Given the description of an element on the screen output the (x, y) to click on. 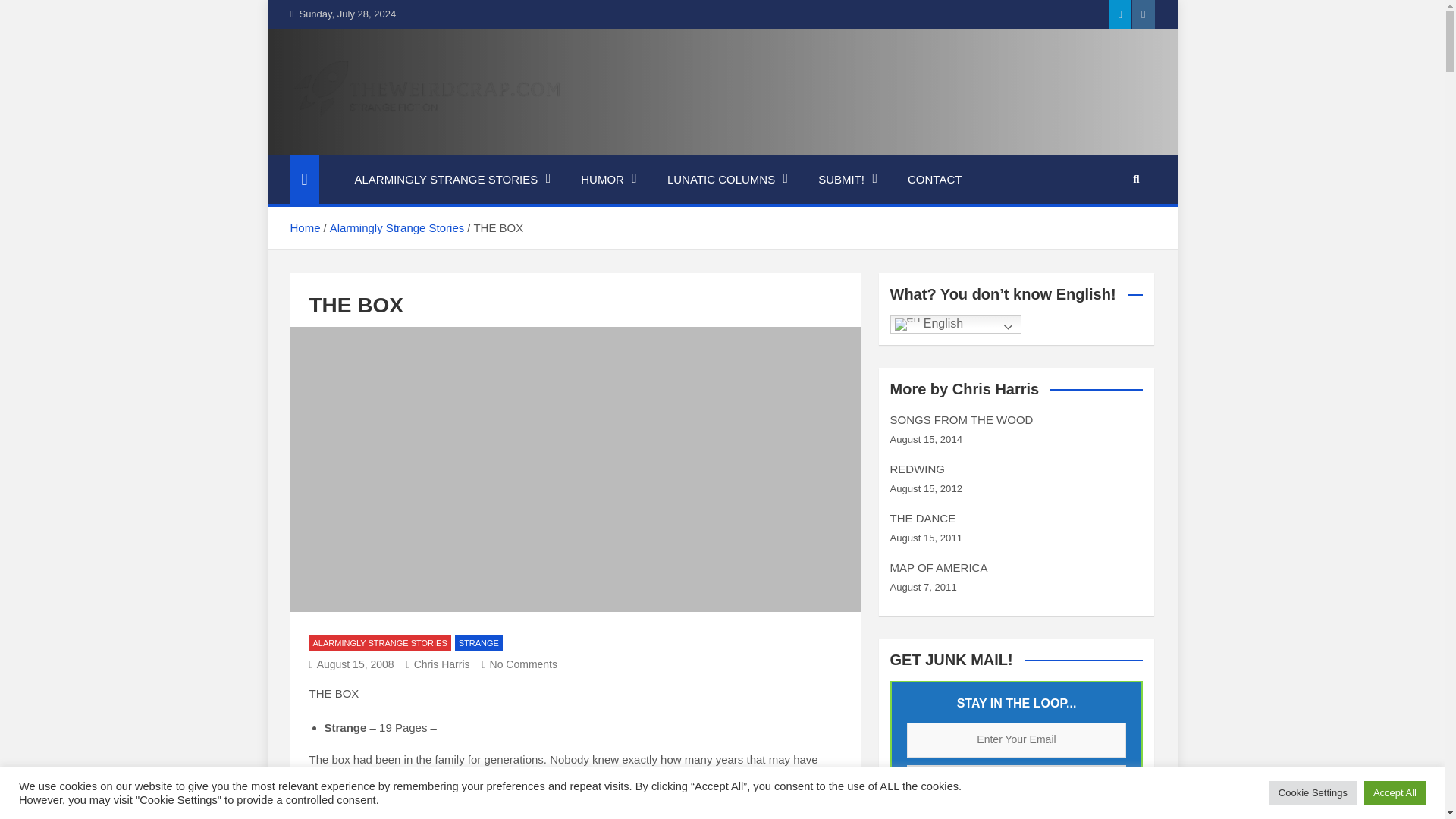
JUNK ME! (1016, 782)
HUMOR (609, 179)
LUNATIC COLUMNS (727, 179)
ALARMINGLY STRANGE STORIES (452, 179)
SUBMIT! (847, 179)
THE BOX (351, 664)
The Weird Crap (401, 143)
